Given the description of an element on the screen output the (x, y) to click on. 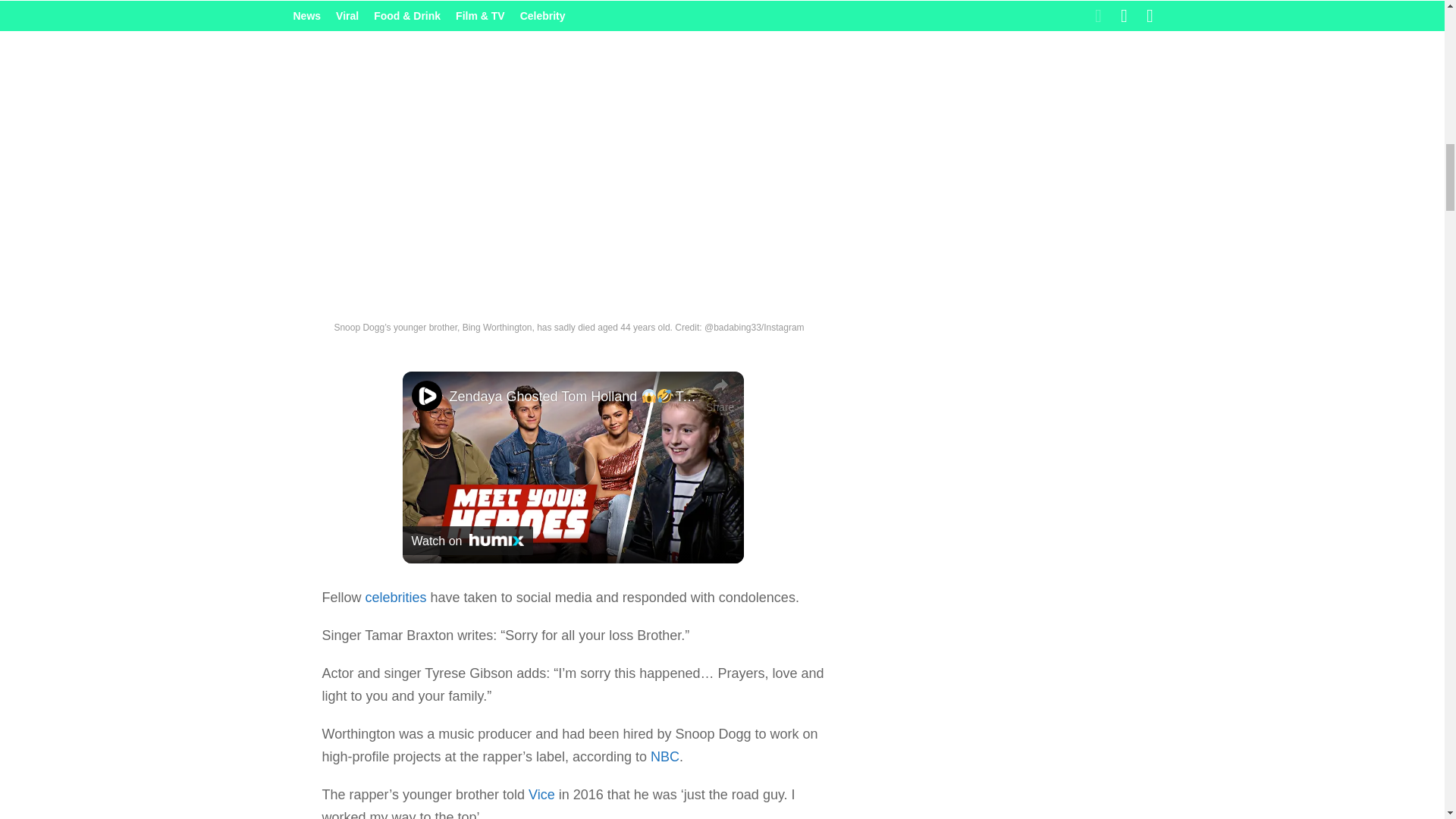
Play Video (572, 466)
